Given the description of an element on the screen output the (x, y) to click on. 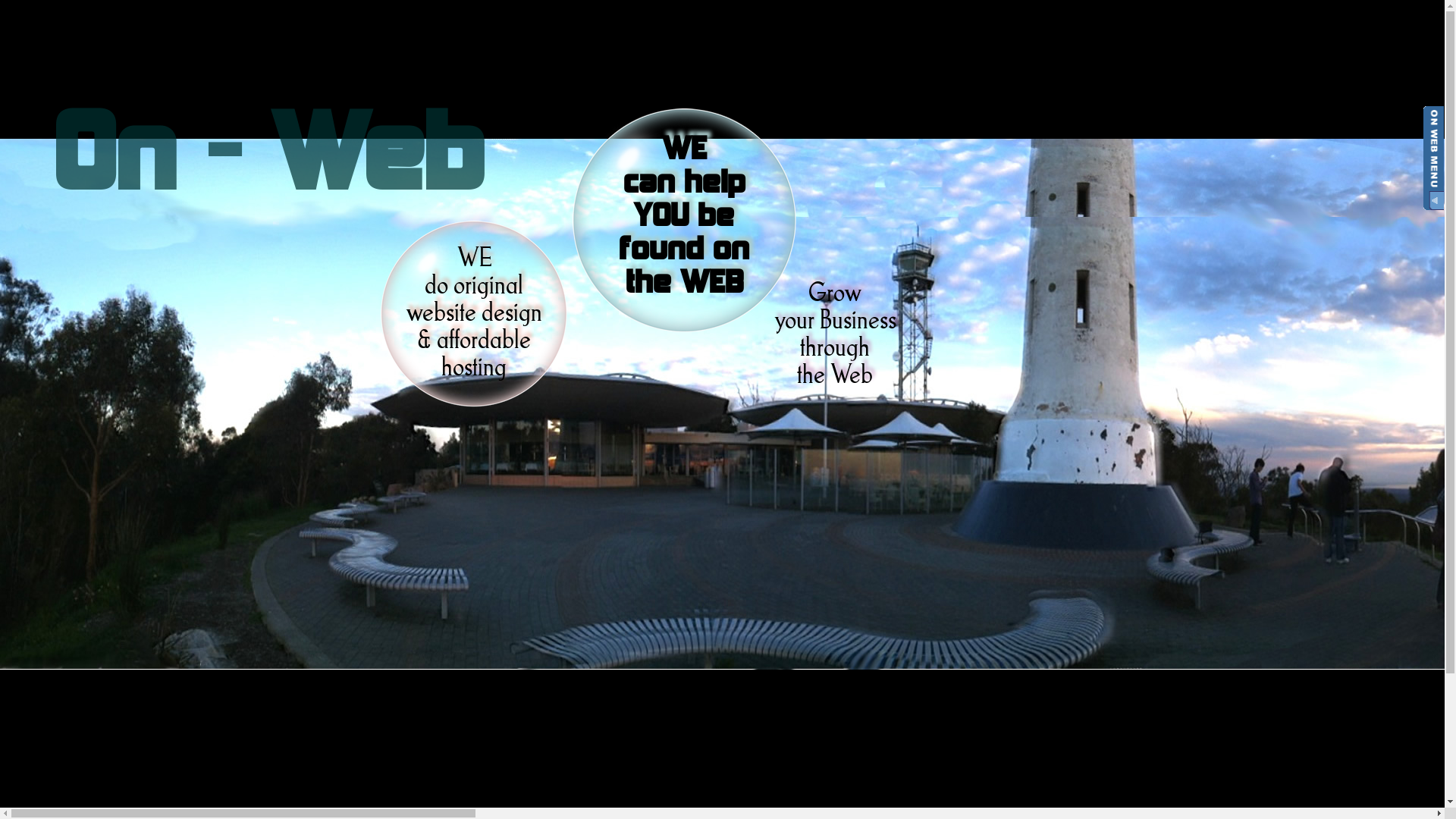
sideBar Element type: hover (1433, 158)
